Given the description of an element on the screen output the (x, y) to click on. 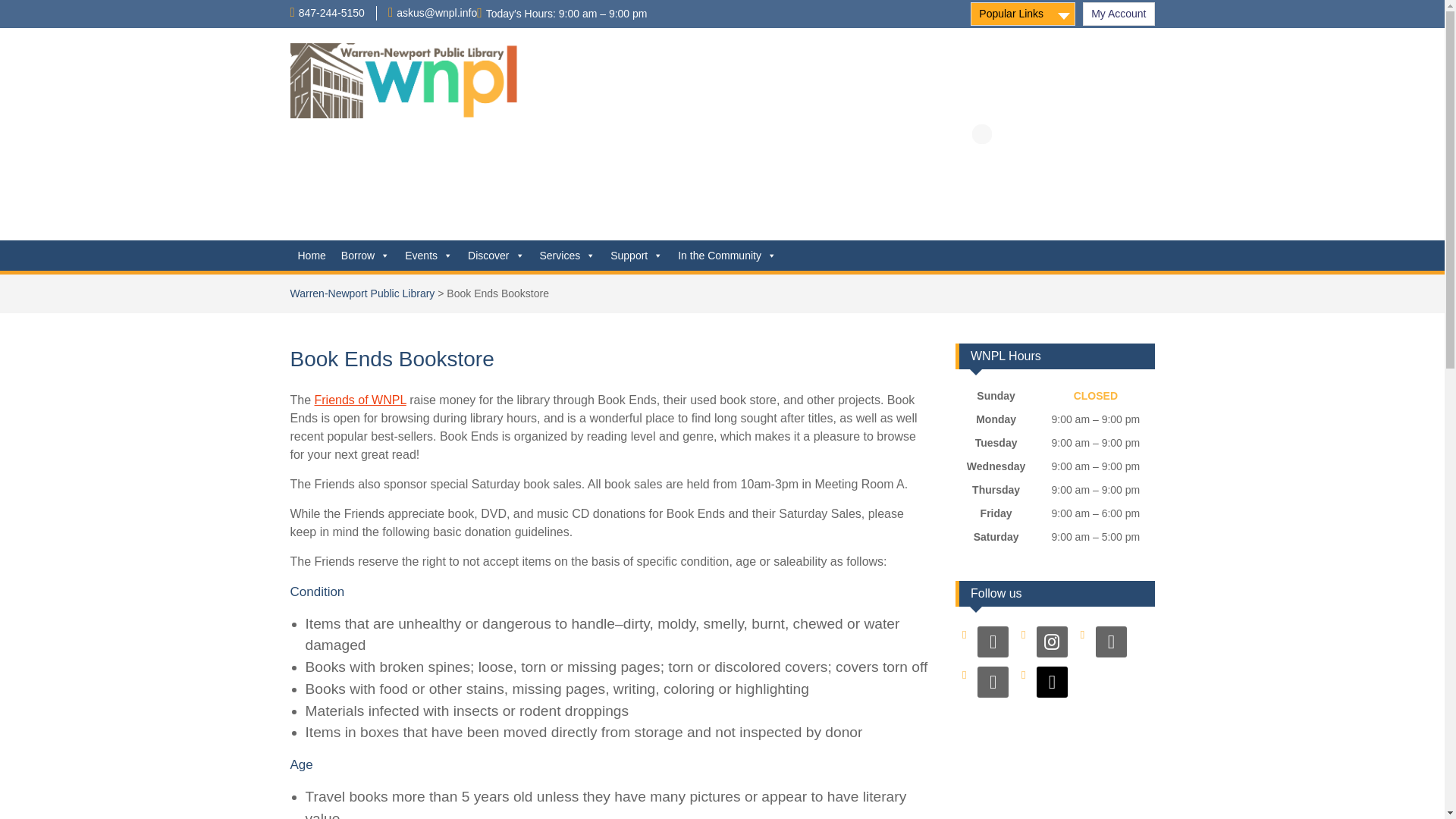
Borrow (365, 255)
Home (311, 255)
Default Label (992, 681)
Popular Links (1023, 13)
847-244-5150 (331, 12)
My Account (1118, 13)
Instagram (1051, 640)
Facebook (992, 640)
Default Label (1111, 640)
